Given the description of an element on the screen output the (x, y) to click on. 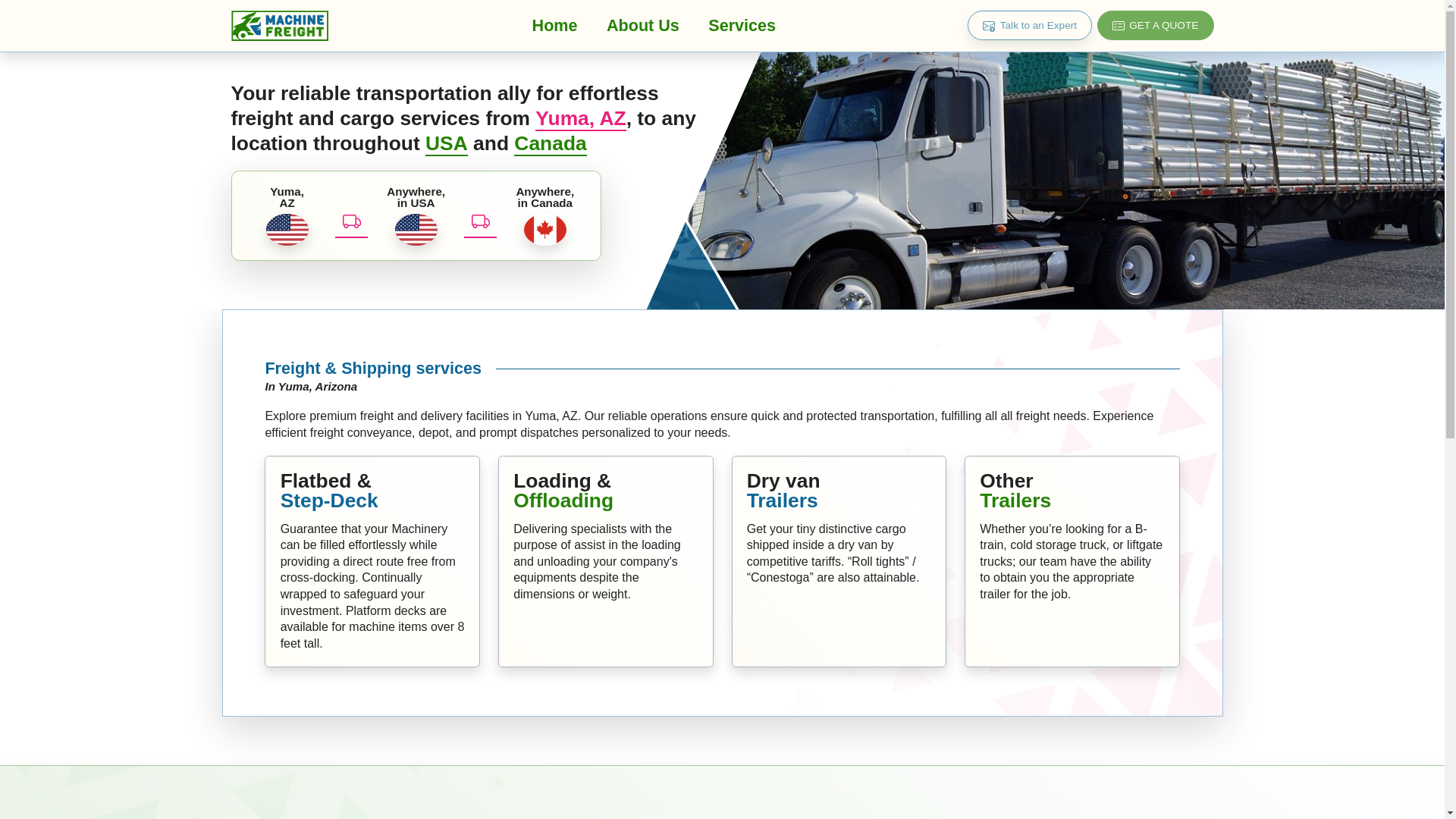
Home (553, 24)
Services (742, 24)
About Us (643, 24)
Talk to an Expert (1030, 25)
GET A QUOTE (1155, 25)
